Given the description of an element on the screen output the (x, y) to click on. 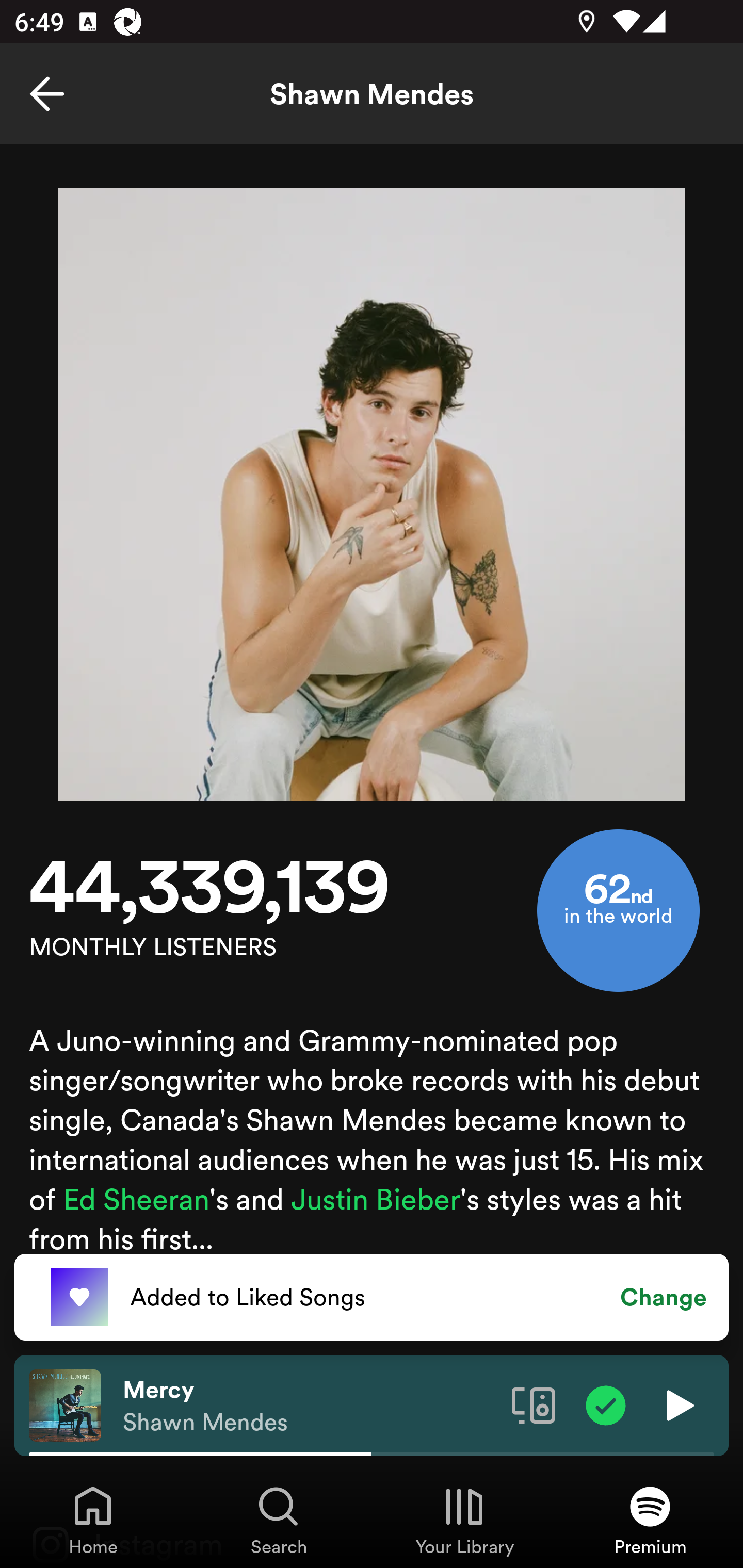
Back (46, 93)
Added to Liked Songs (79, 1297)
Added to Liked Songs (371, 1297)
Change (663, 1297)
Mercy Shawn Mendes (309, 1405)
The cover art of the currently playing track (64, 1404)
Connect to a device. Opens the devices menu (533, 1404)
Item added (605, 1404)
Play (677, 1404)
Home, Tab 1 of 4 Home Home (92, 1519)
Search, Tab 2 of 4 Search Search (278, 1519)
Your Library, Tab 3 of 4 Your Library Your Library (464, 1519)
Premium, Tab 4 of 4 Premium Premium (650, 1519)
